Given the description of an element on the screen output the (x, y) to click on. 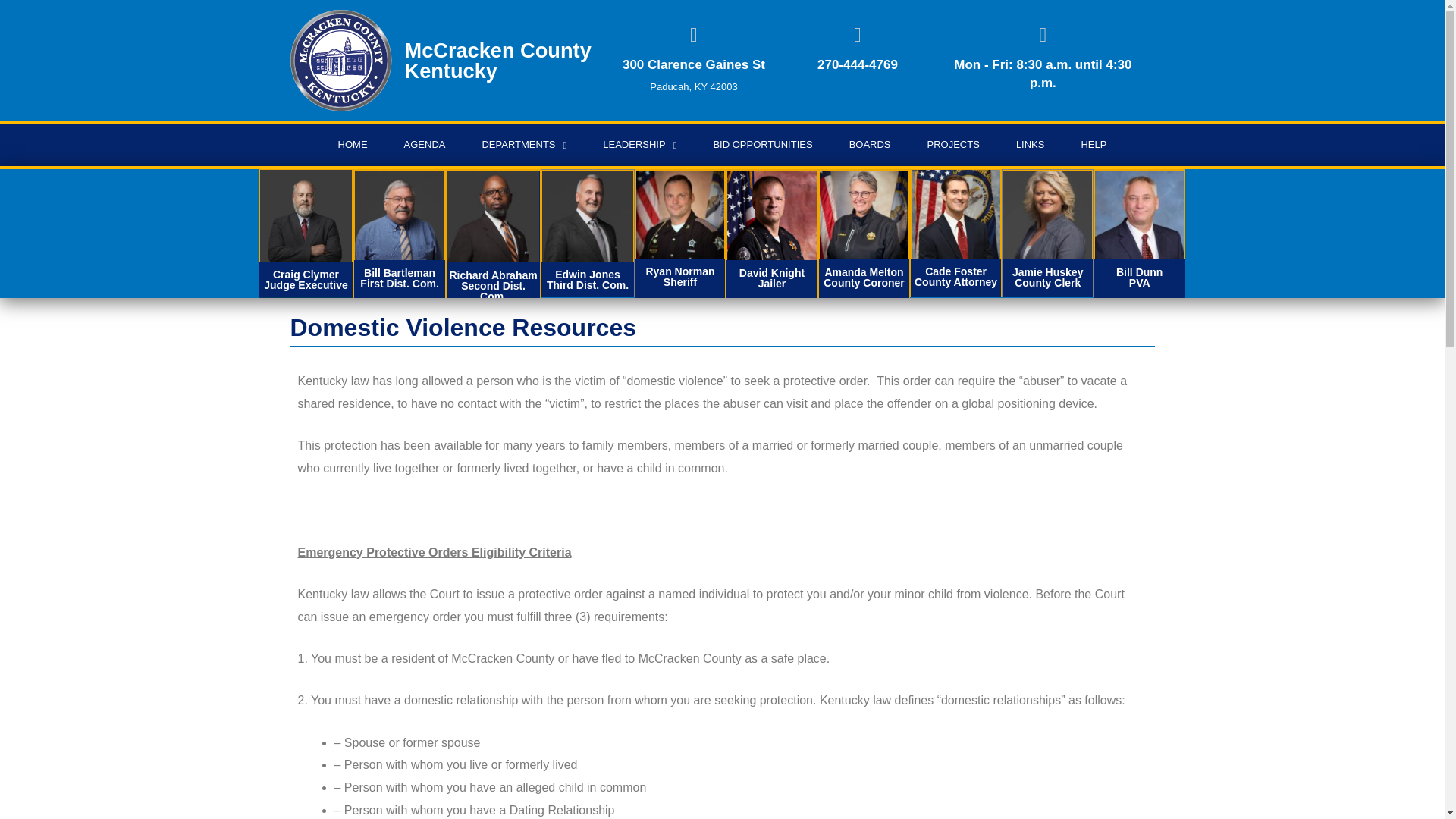
LEADERSHIP (639, 144)
AGENDA (424, 144)
BID OPPORTUNITIES (761, 144)
Craig Clymer (305, 215)
PROJECTS (952, 144)
HELP (1093, 144)
DEPARTMENTS (524, 144)
HOME (352, 144)
BOARDS (869, 144)
LINKS (1029, 144)
